Given the description of an element on the screen output the (x, y) to click on. 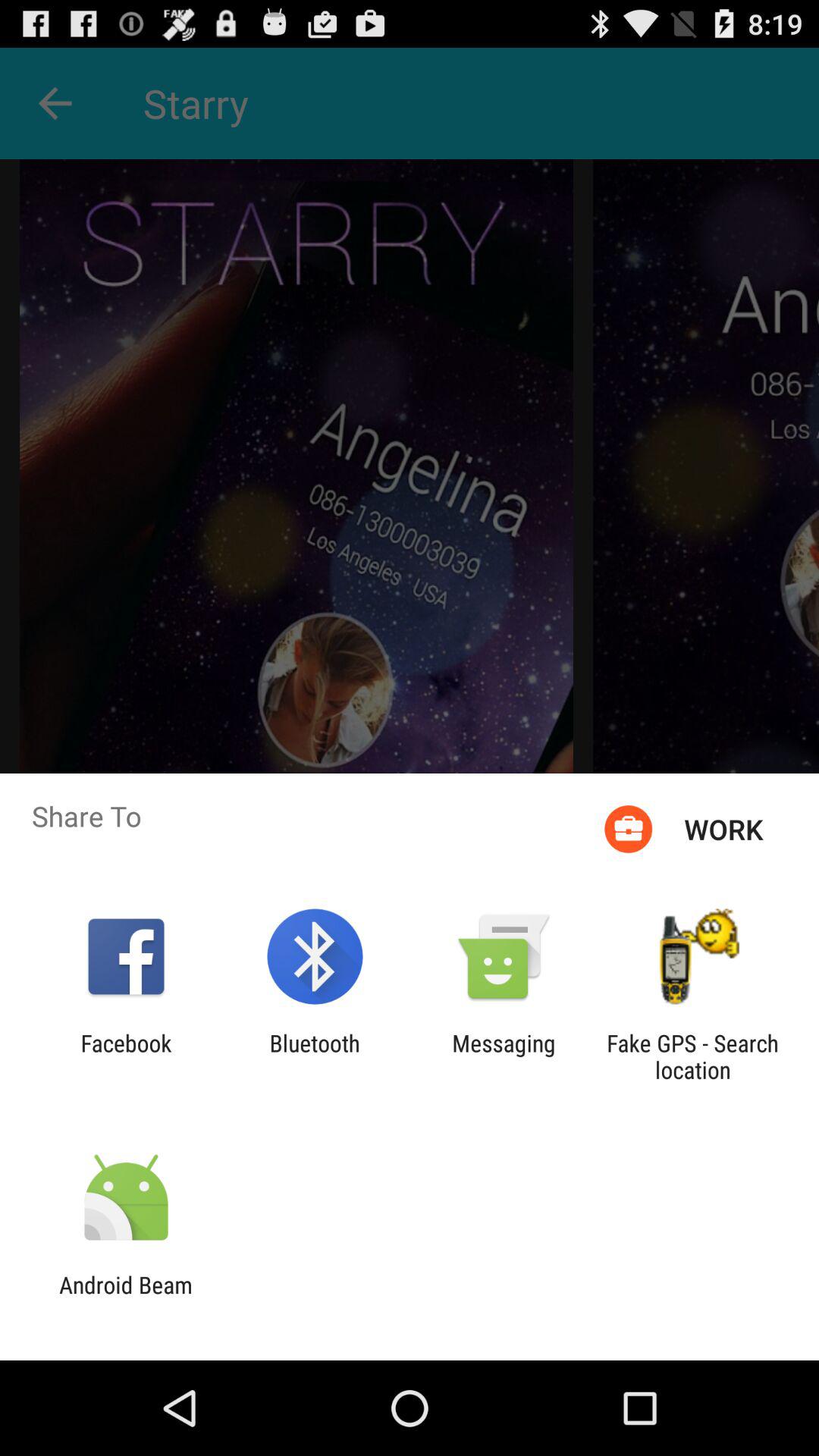
select the app next to the bluetooth (125, 1056)
